Given the description of an element on the screen output the (x, y) to click on. 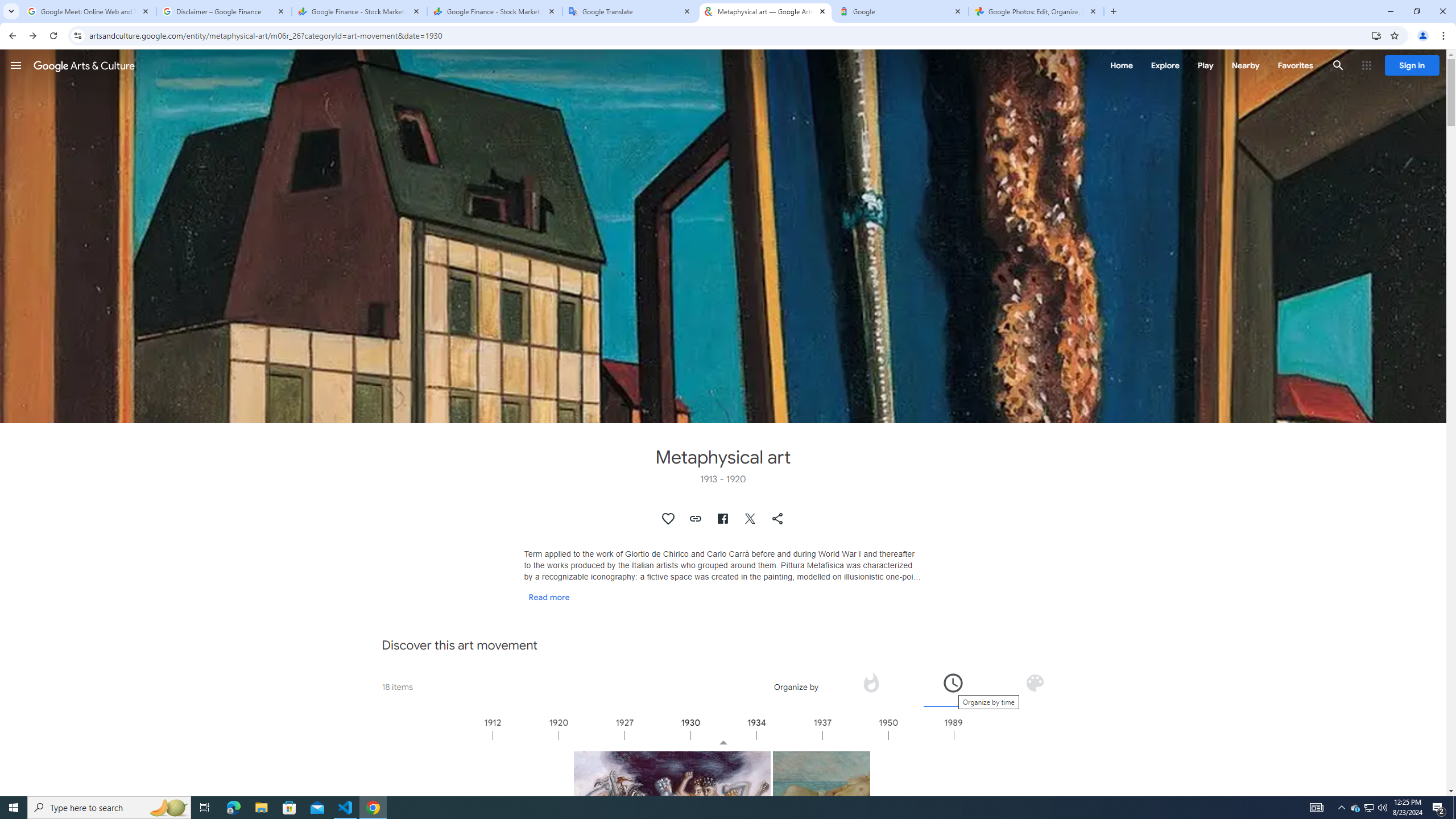
Copy Link (695, 518)
Organize by time (951, 682)
Organize by popularity (871, 686)
Organize by time (952, 686)
Favorites (1295, 65)
Organize by color (1034, 682)
Organize by popularity (870, 682)
